Given the description of an element on the screen output the (x, y) to click on. 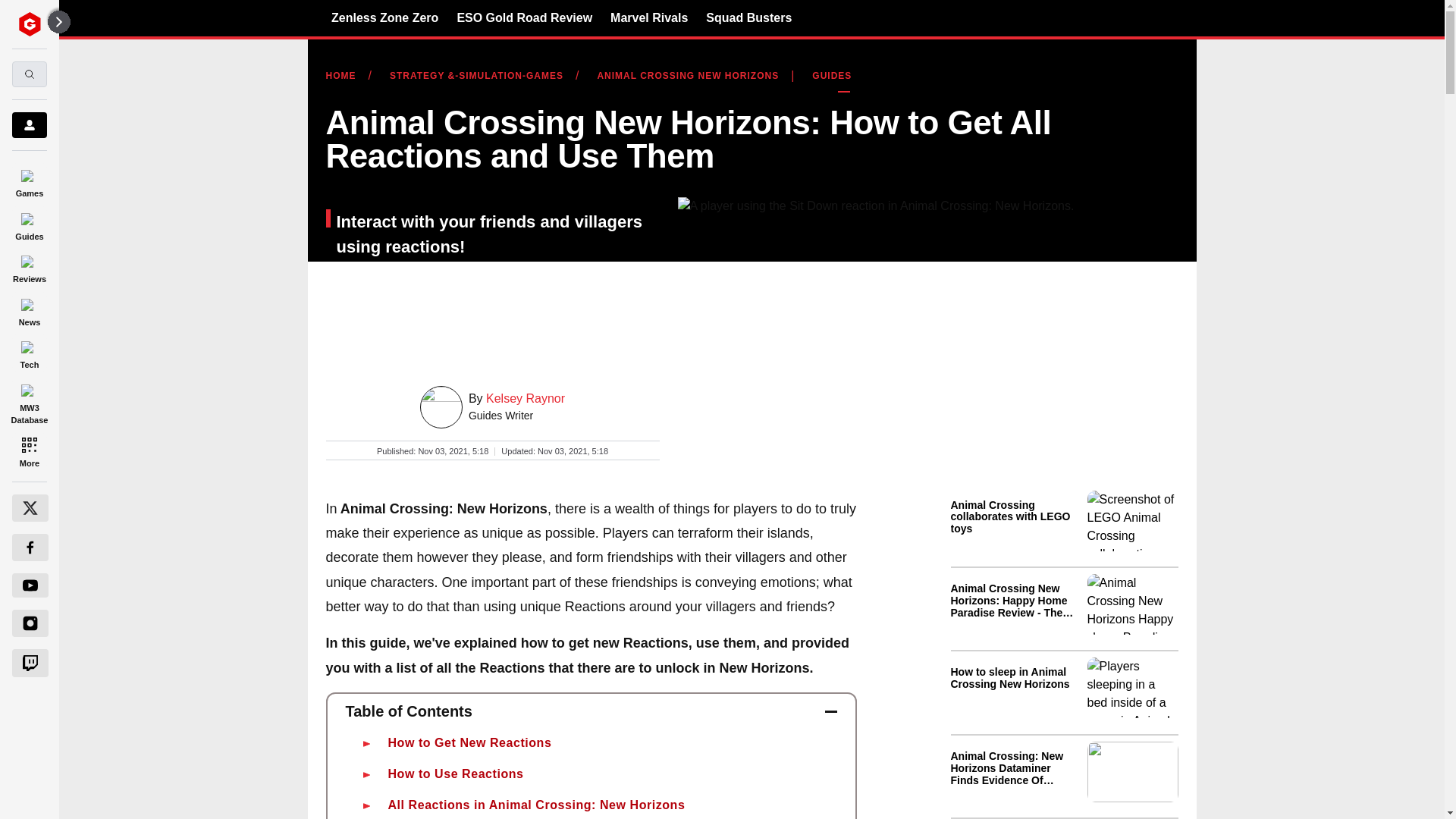
Tech (28, 352)
Games (28, 180)
Guides (28, 224)
Latest News (1063, 651)
News (28, 309)
Squad Busters (749, 18)
Reviews (28, 266)
More (28, 450)
Marvel Rivals (648, 18)
MW3 Database (28, 401)
ESO Gold Road Review (524, 18)
Zenless Zone Zero (384, 18)
